Given the description of an element on the screen output the (x, y) to click on. 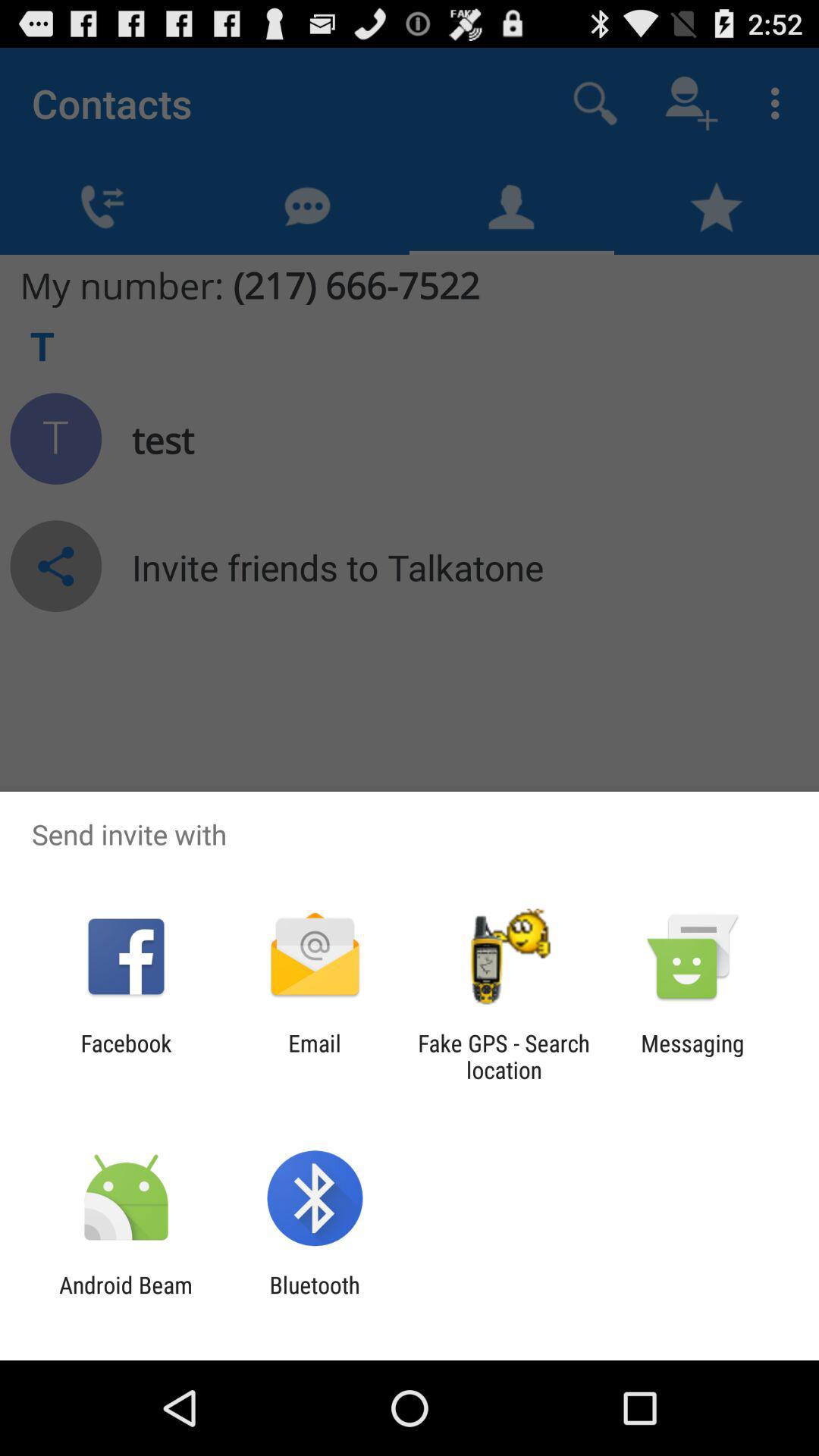
scroll until android beam item (125, 1298)
